Given the description of an element on the screen output the (x, y) to click on. 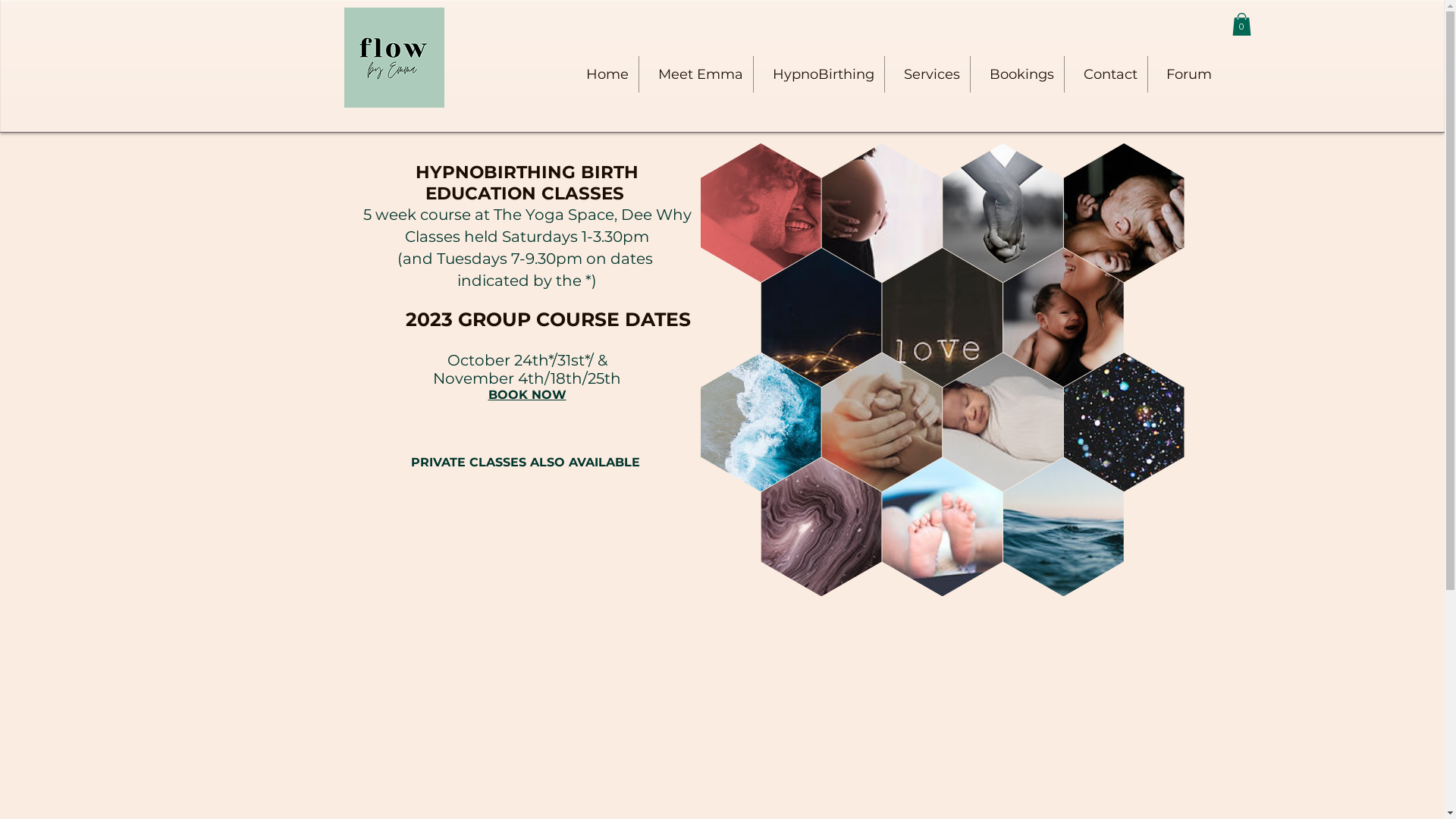
Contact Element type: text (1105, 74)
Bookings Element type: text (1016, 74)
HypnoBirthing Element type: text (818, 74)
Forum Element type: text (1184, 74)
Home Element type: text (602, 74)
Meet Emma Element type: text (695, 74)
0 Element type: text (1240, 23)
BOOK NOW Element type: text (527, 395)
Flow by Emma Logo 2.PNG Element type: hover (394, 57)
Services Element type: text (926, 74)
